Given the description of an element on the screen output the (x, y) to click on. 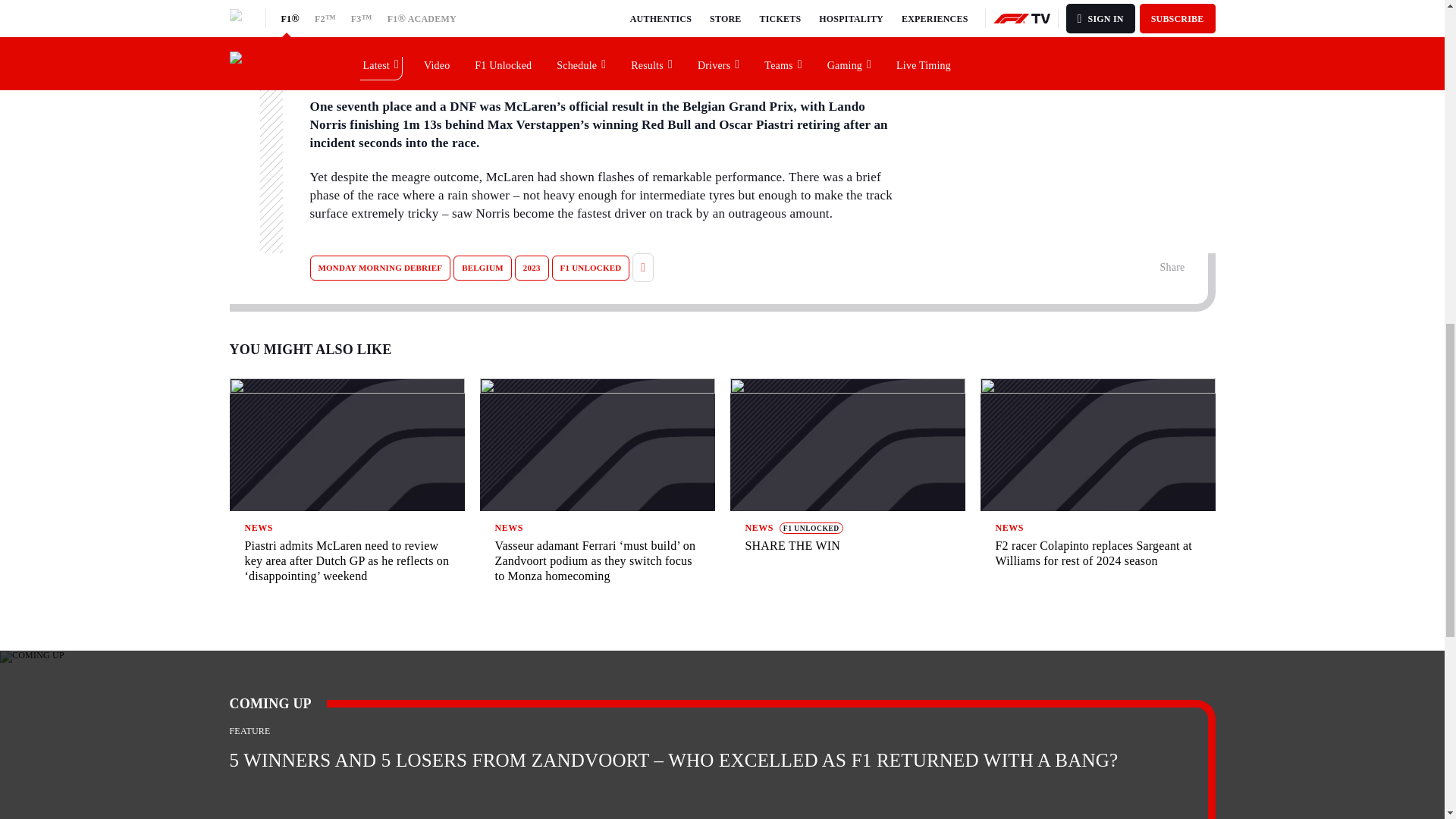
Discover more news (1018, 51)
BELGIUM (482, 267)
MONDAY MORNING DEBRIEF (378, 267)
